Given the description of an element on the screen output the (x, y) to click on. 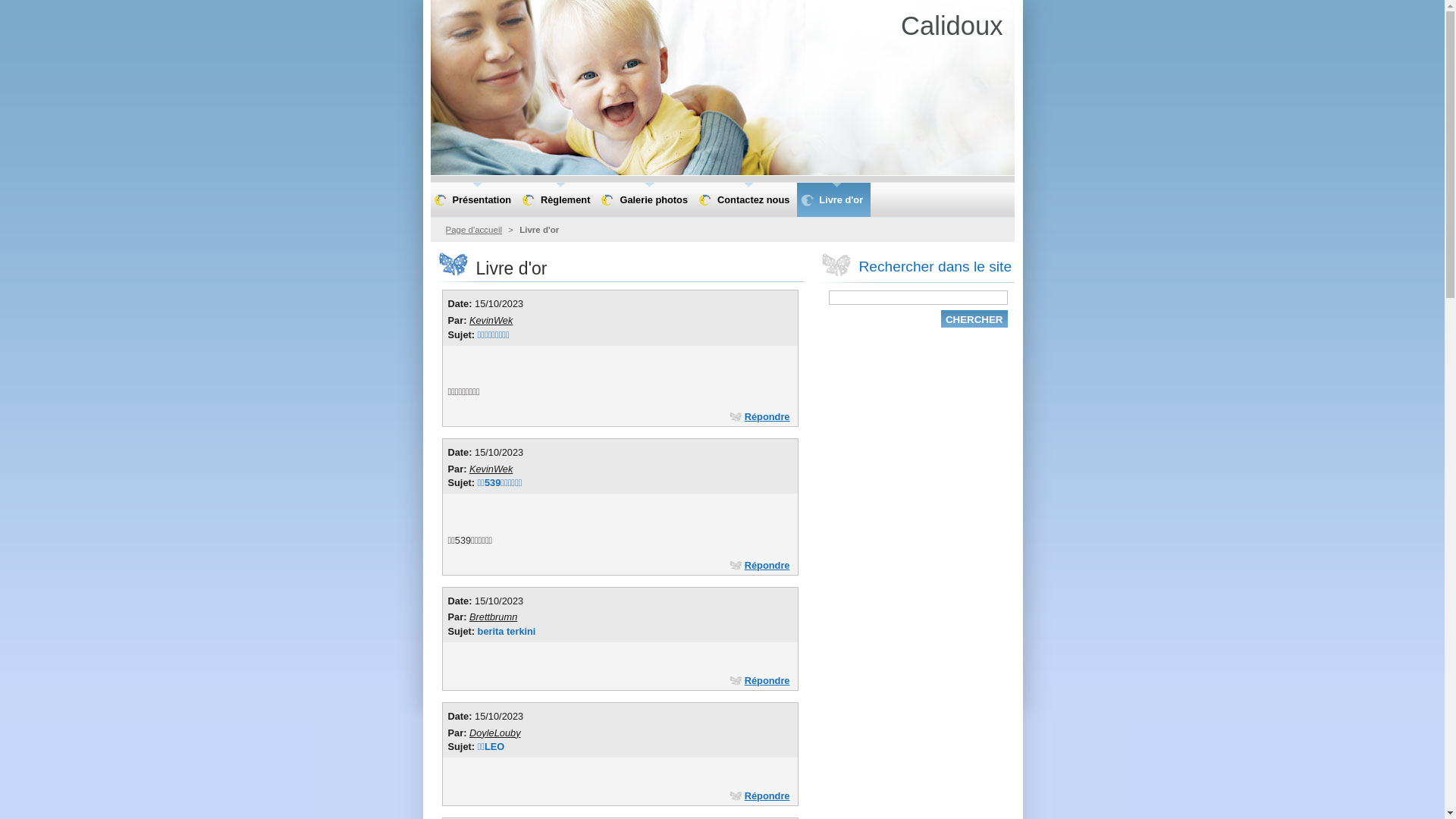
Contactez nous Element type: text (746, 199)
Page d'accueil Element type: text (473, 229)
Calidoux Element type: text (951, 25)
Galerie photos Element type: text (646, 199)
Chercher Element type: text (974, 318)
Livre d'or Element type: text (833, 199)
